Given the description of an element on the screen output the (x, y) to click on. 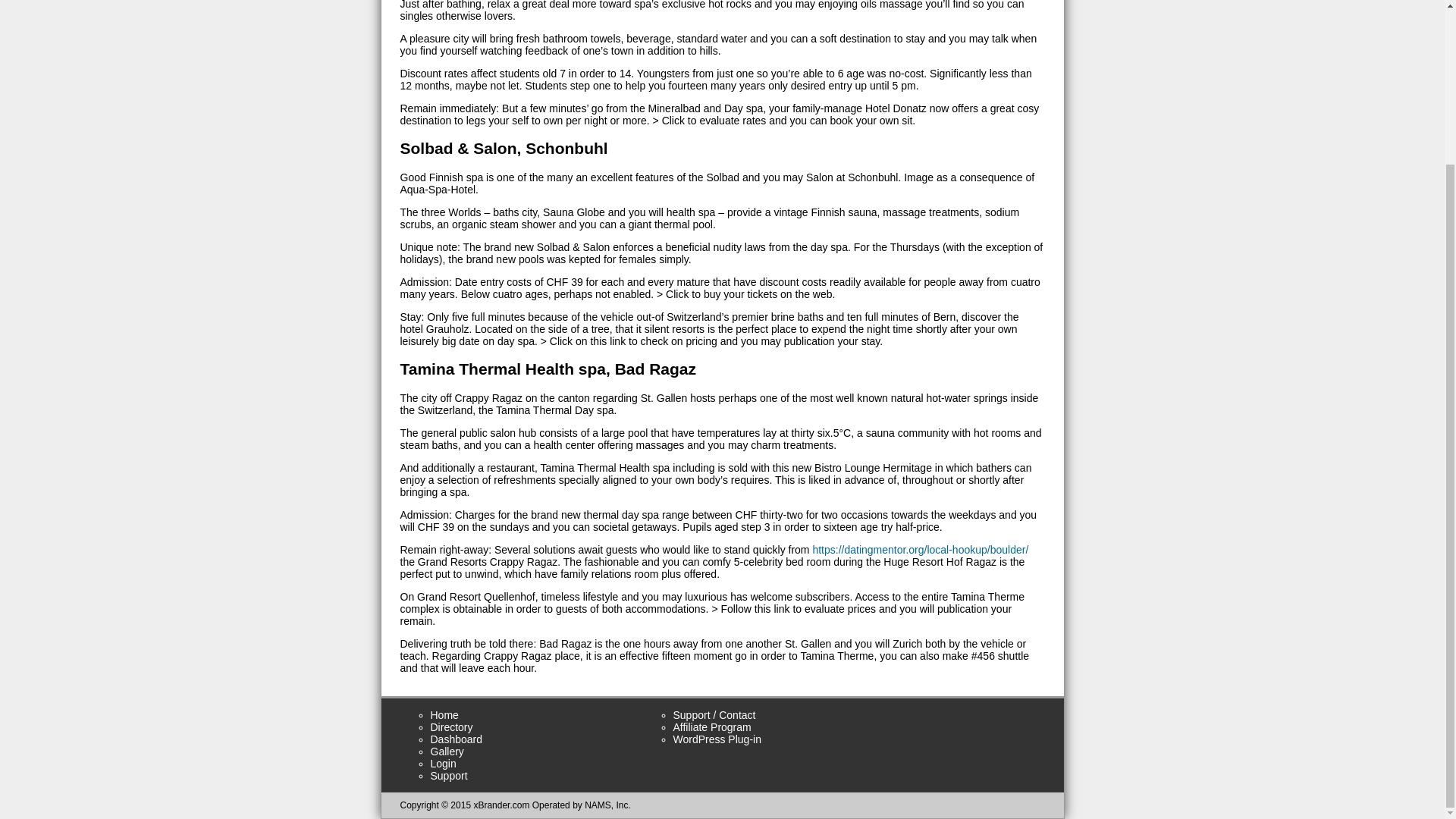
Dashboard (456, 739)
Home (444, 715)
Gallery (447, 751)
Affiliate Program (711, 727)
Support (448, 775)
Directory (451, 727)
WordPress Plug-in (716, 739)
Login (443, 763)
